Given the description of an element on the screen output the (x, y) to click on. 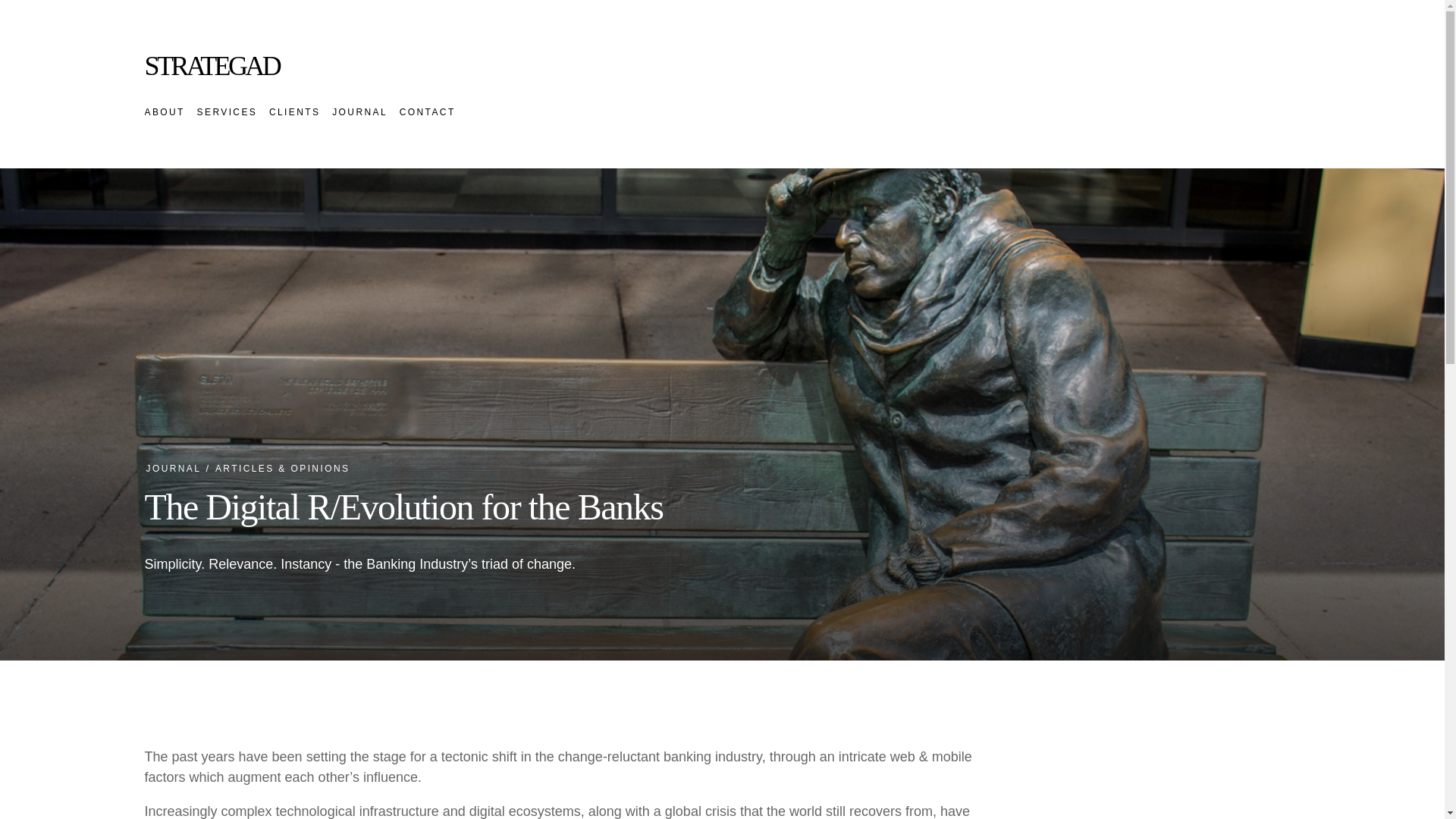
JOURNAL (172, 468)
SERVICES (226, 111)
STRATEGAD (211, 65)
CLIENTS (294, 111)
Journal (172, 468)
ABOUT (164, 111)
JOURNAL (359, 111)
STRATEGAD (211, 65)
CONTACT (426, 111)
